Given the description of an element on the screen output the (x, y) to click on. 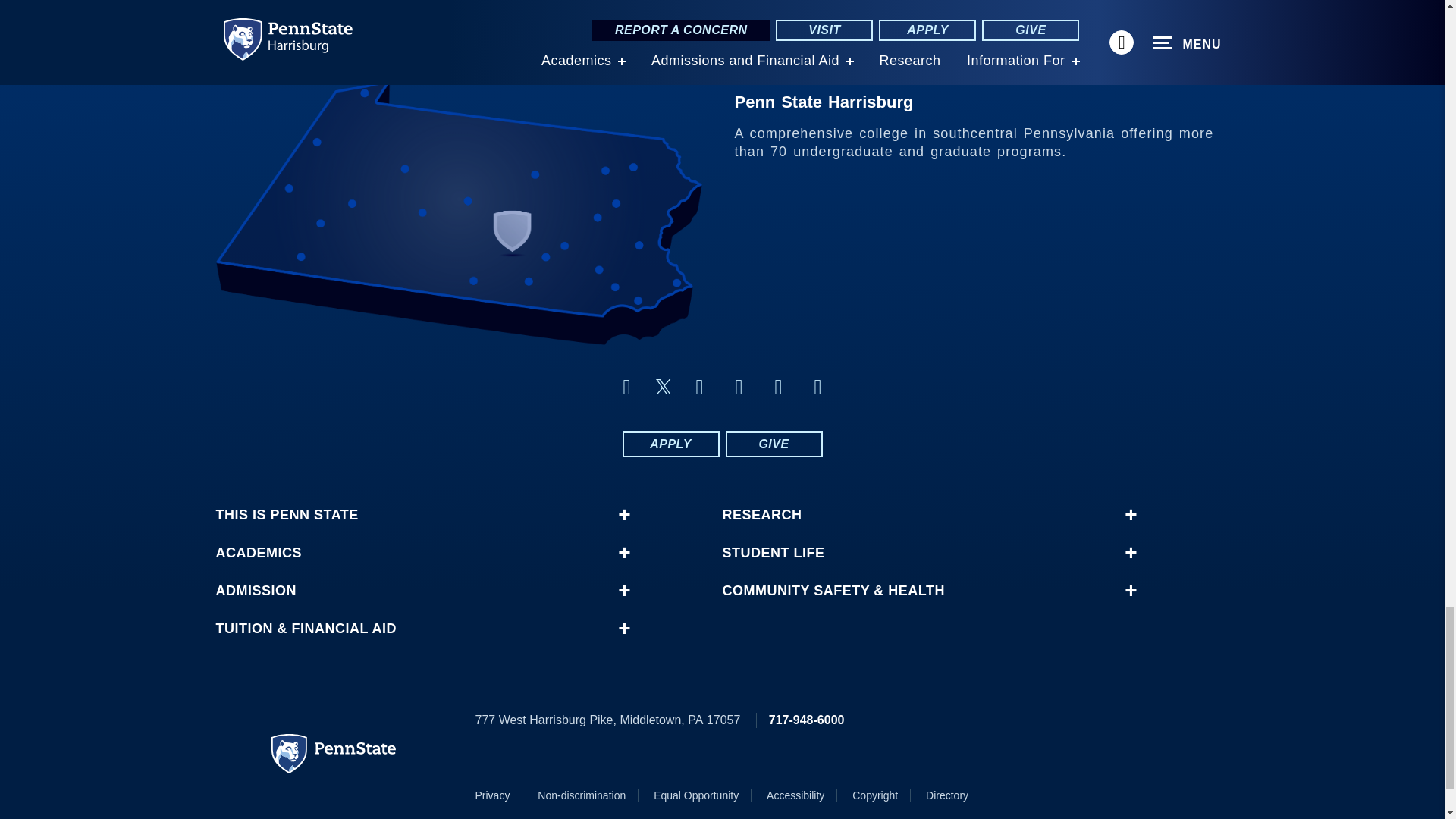
youtube (778, 386)
flickr (738, 386)
linkedin (699, 386)
instagram (817, 386)
facebook (626, 386)
